Given the description of an element on the screen output the (x, y) to click on. 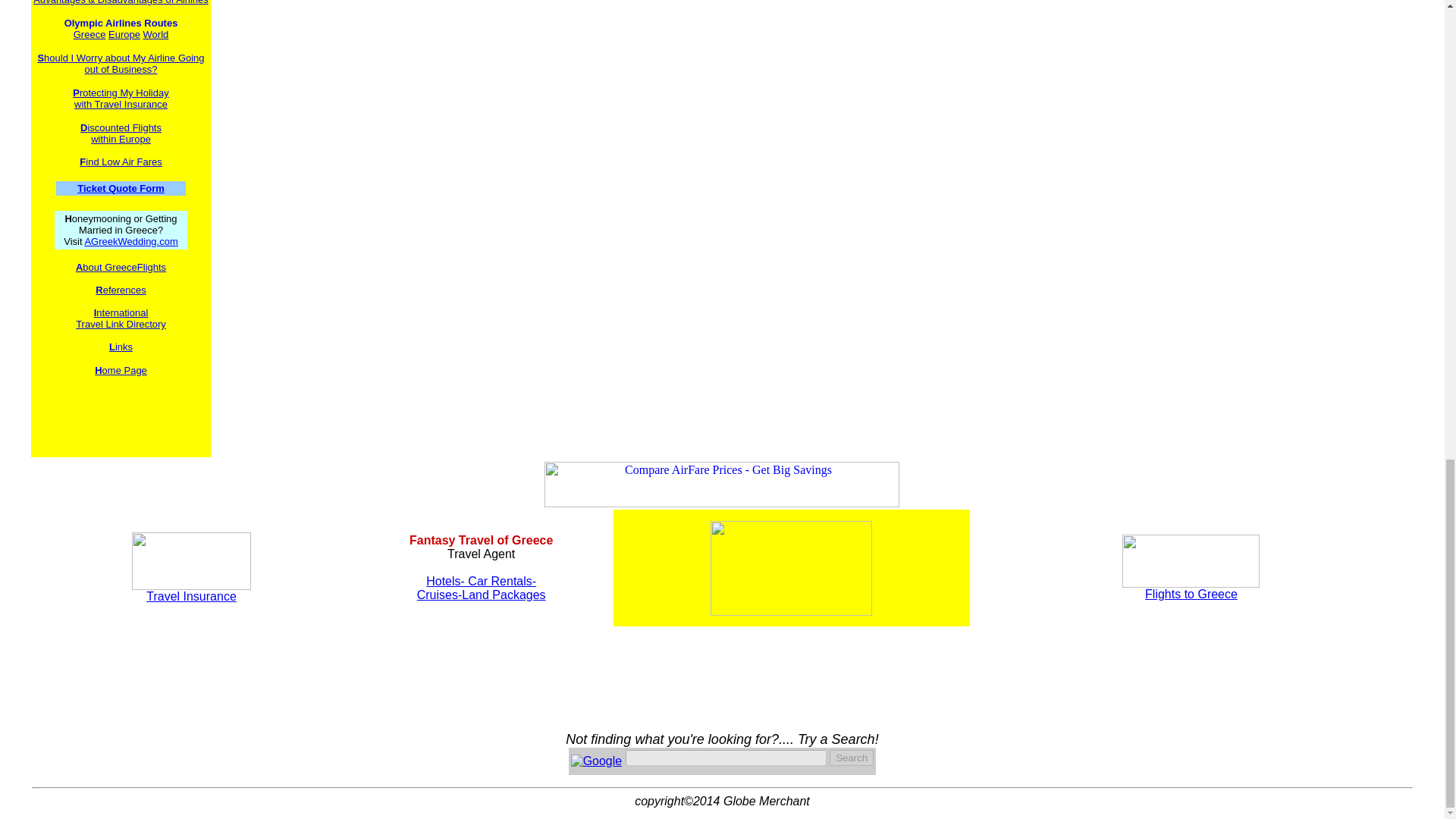
Should I Worry about My Airline Going out of Business? (120, 97)
AGreekWedding.com (120, 63)
Europe (130, 241)
Ticket Quote Form (123, 34)
World (120, 188)
Greece (120, 133)
Find Low Air Fares (155, 34)
Search (90, 34)
